Given the description of an element on the screen output the (x, y) to click on. 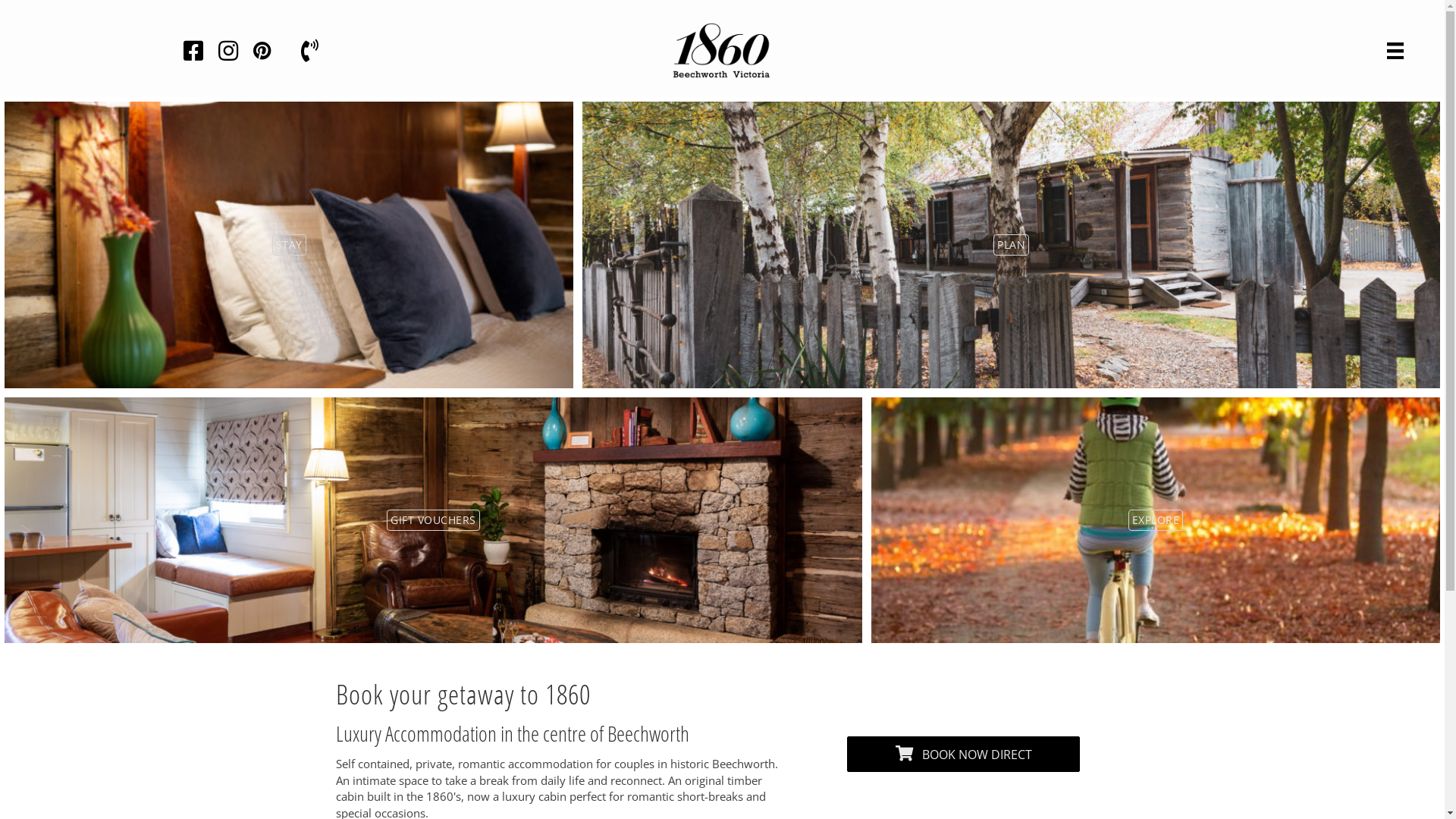
PLAN Element type: text (1011, 244)
GIFT VOUCHERS Element type: text (433, 519)
STAY Element type: text (288, 244)
BOOK NOW DIRECT Element type: text (963, 753)
1860 Logo-v5 Element type: hover (721, 50)
EXPLORE Element type: text (1155, 519)
